Given the description of an element on the screen output the (x, y) to click on. 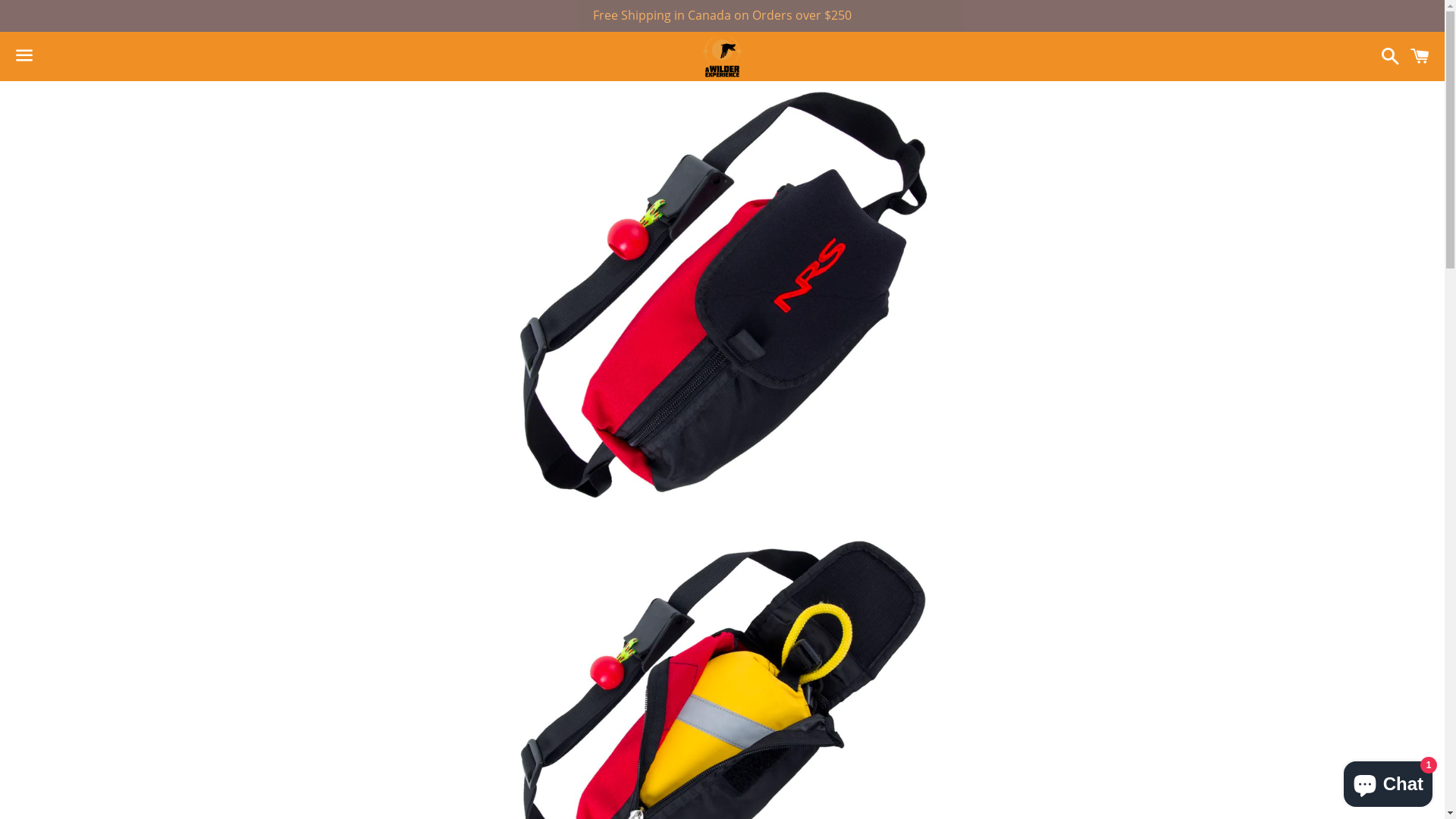
Cart Element type: text (1419, 55)
Menu Element type: text (24, 55)
Search Element type: text (1386, 55)
Free Shipping in Canada on Orders over $250 Element type: text (722, 15)
Shopify online store chat Element type: hover (1388, 780)
